Given the description of an element on the screen output the (x, y) to click on. 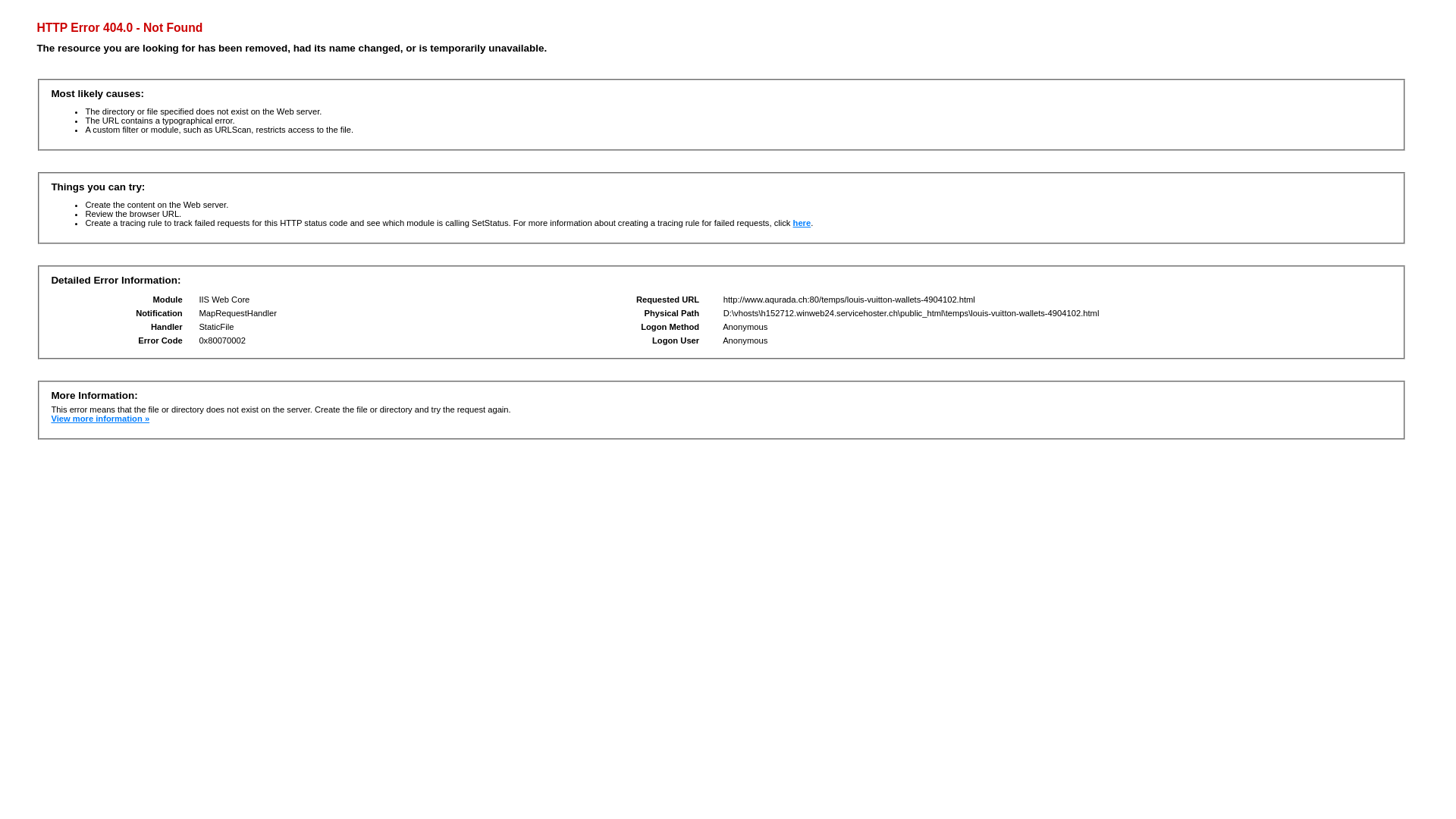
here Element type: text (802, 222)
